Given the description of an element on the screen output the (x, y) to click on. 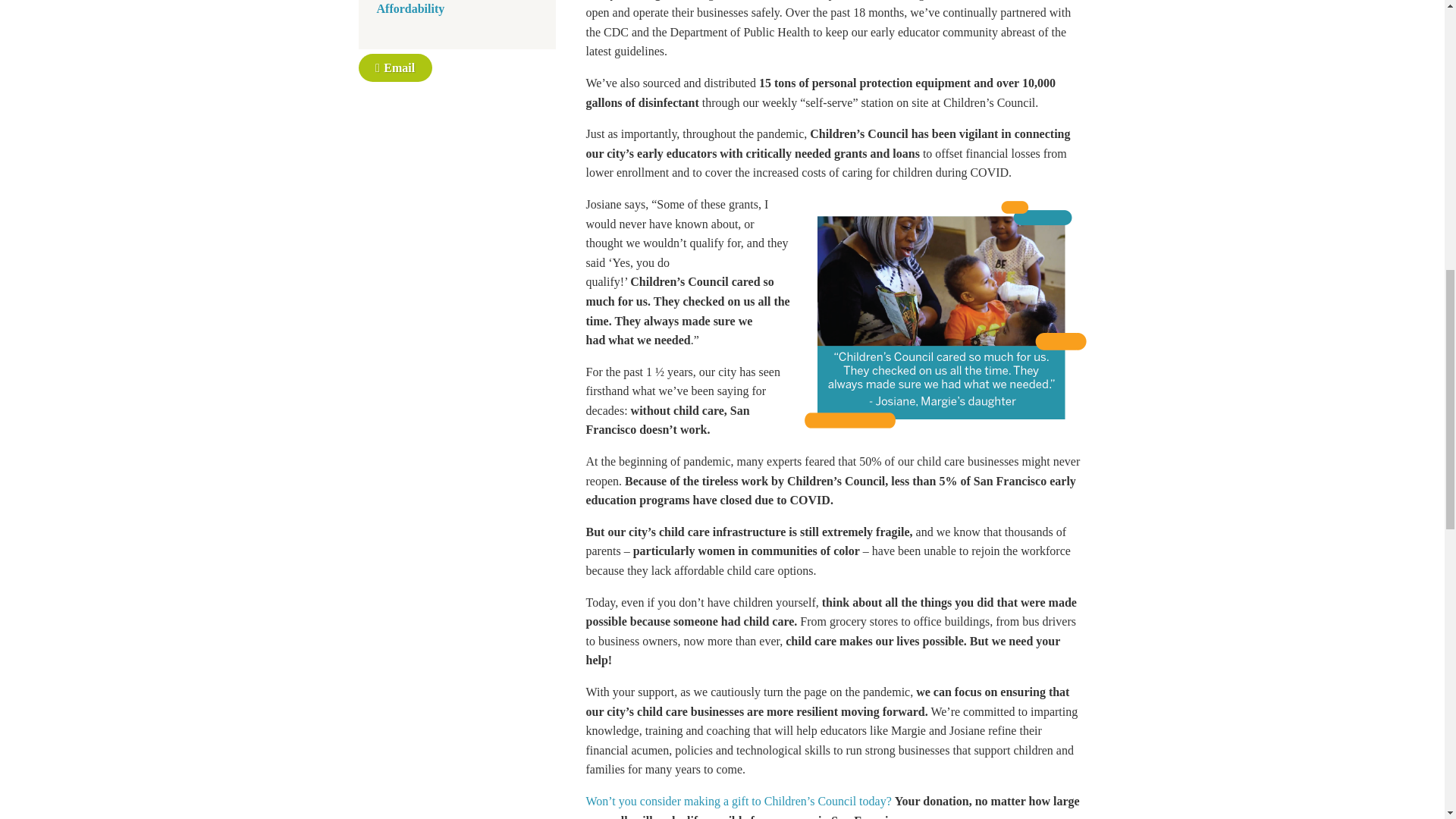
Email (394, 67)
